Given the description of an element on the screen output the (x, y) to click on. 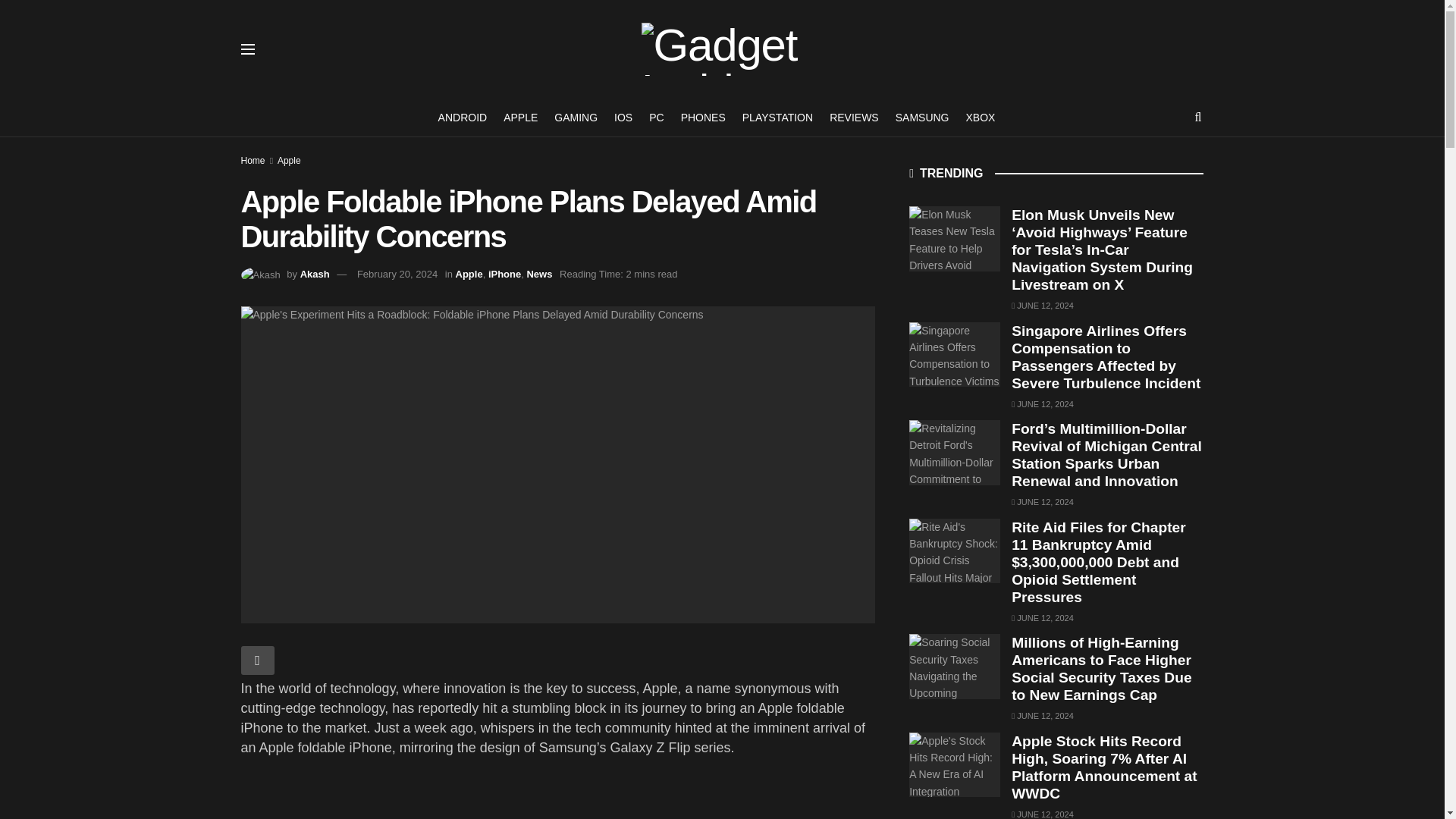
ANDROID (462, 117)
PLAYSTATION (777, 117)
News (538, 274)
REVIEWS (854, 117)
Home (252, 160)
Apple (289, 160)
XBOX (980, 117)
SAMSUNG (922, 117)
iPhone (504, 274)
Apple (469, 274)
APPLE (520, 117)
PHONES (703, 117)
GAMING (575, 117)
February 20, 2024 (397, 274)
Akash (314, 274)
